Given the description of an element on the screen output the (x, y) to click on. 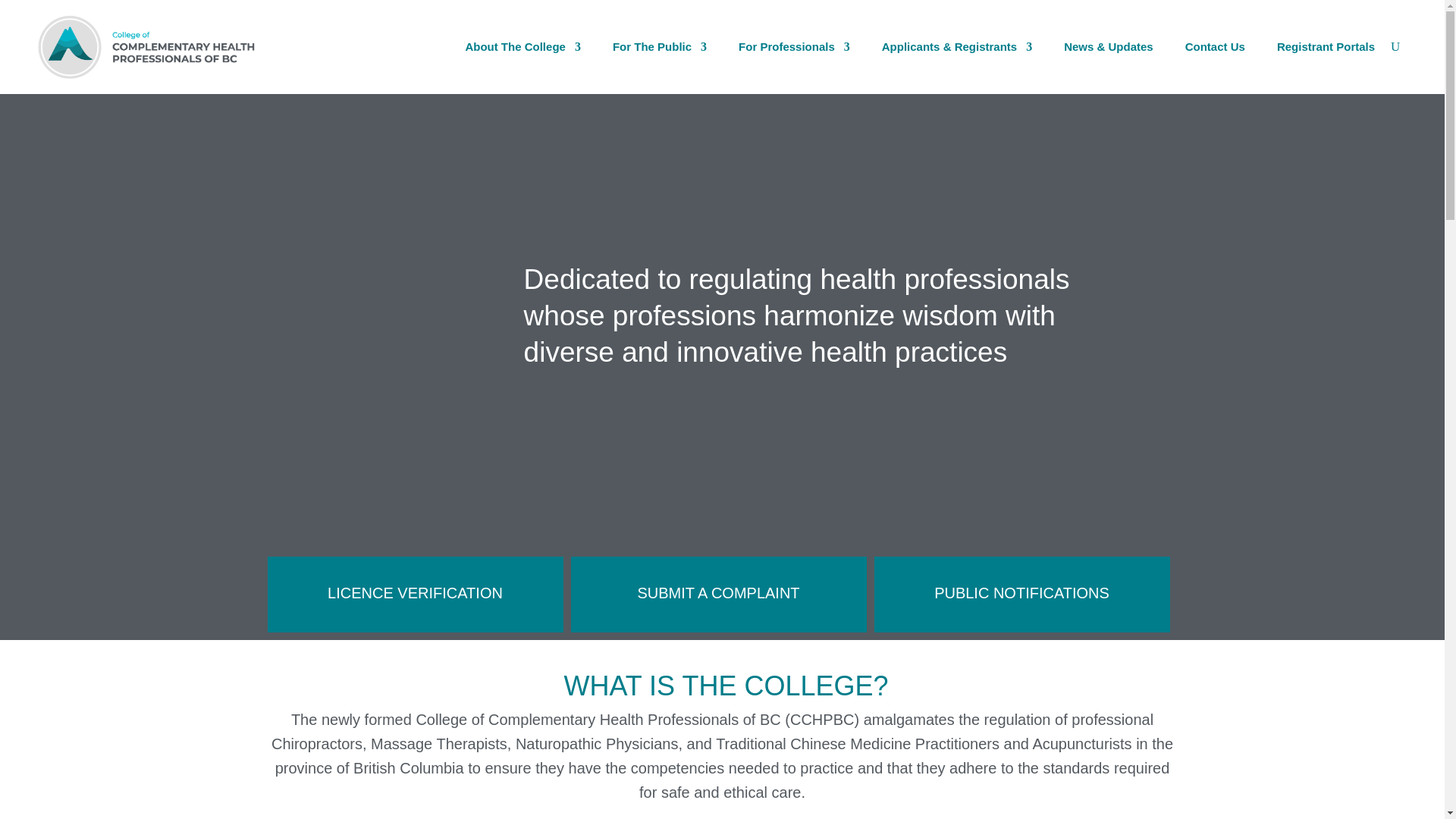
Contact Us (1214, 46)
About The College (522, 46)
For The Public (659, 46)
Registrant Portals (1325, 46)
For Professionals (794, 46)
